Given the description of an element on the screen output the (x, y) to click on. 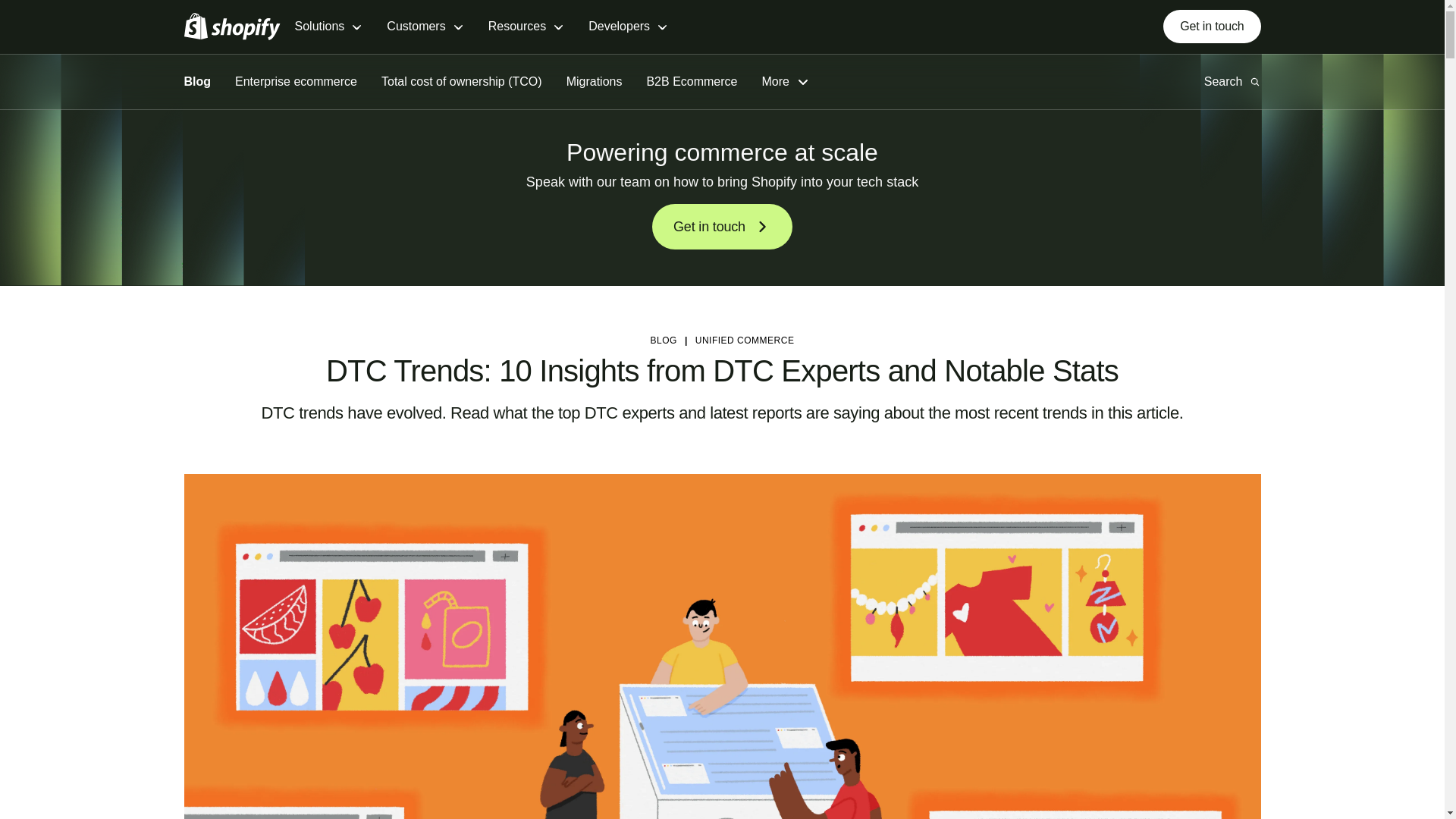
Developers (628, 27)
Resources (525, 27)
Solutions (328, 27)
Customers (425, 27)
